Given the description of an element on the screen output the (x, y) to click on. 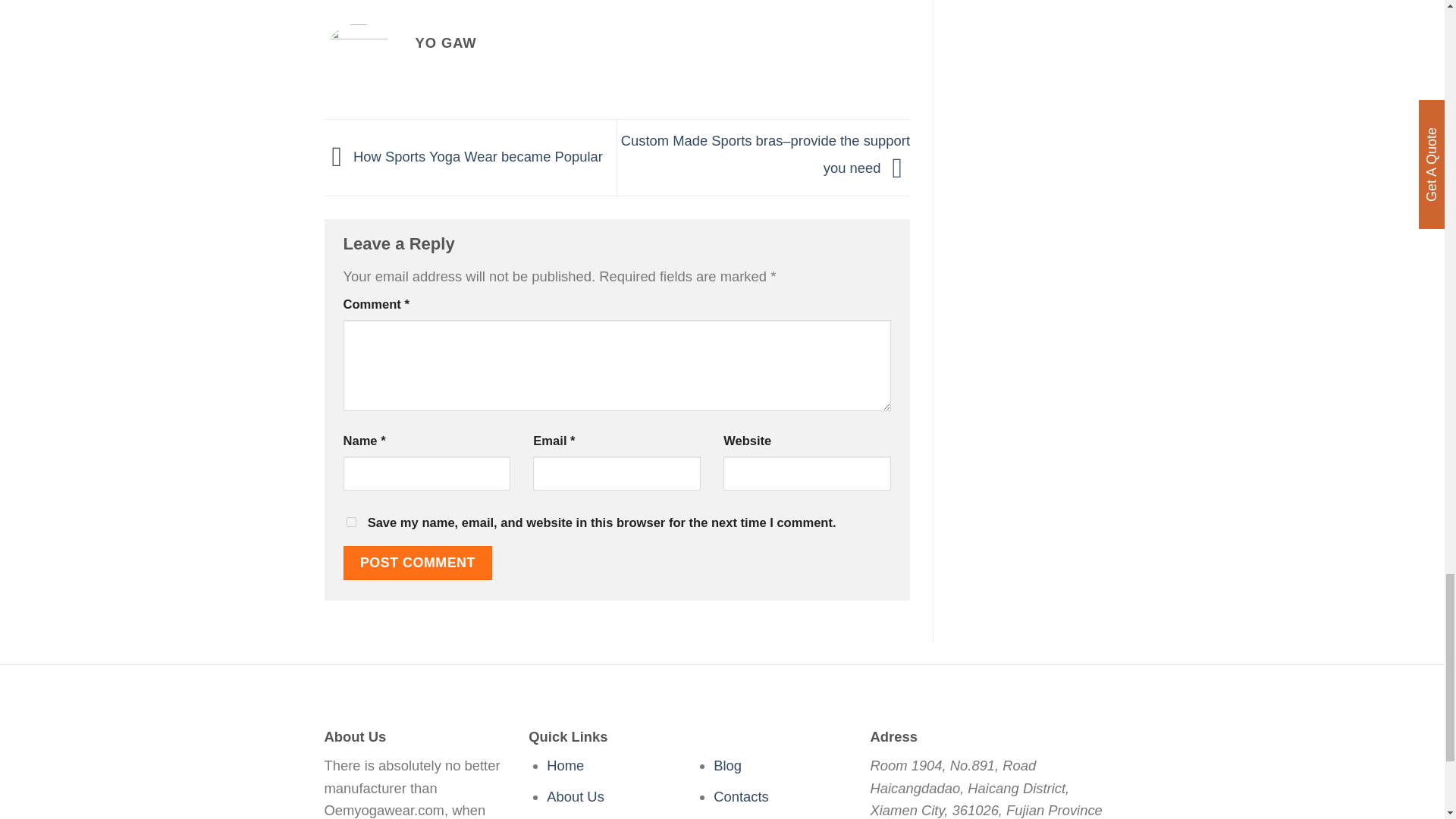
How Sports Yoga Wear became Popular (463, 156)
Post Comment (417, 562)
Post Comment (417, 562)
yes (350, 521)
